Given the description of an element on the screen output the (x, y) to click on. 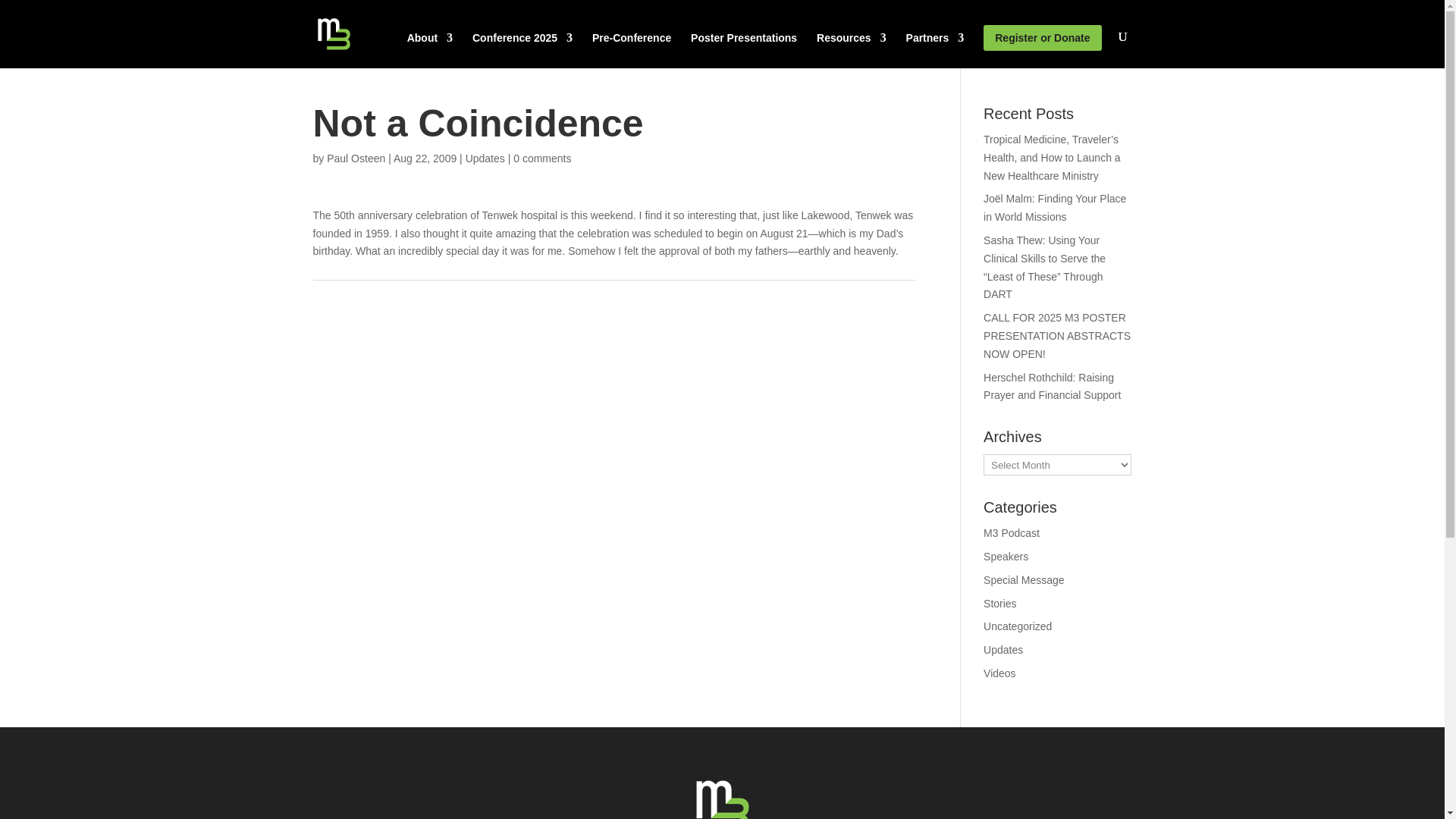
Partners (934, 49)
About (429, 49)
Pre-Conference (631, 49)
Conference 2025 (521, 49)
Poster Presentations (743, 49)
Register or Donate (1042, 37)
Posts by Paul Osteen (355, 158)
Resources (851, 49)
